Given the description of an element on the screen output the (x, y) to click on. 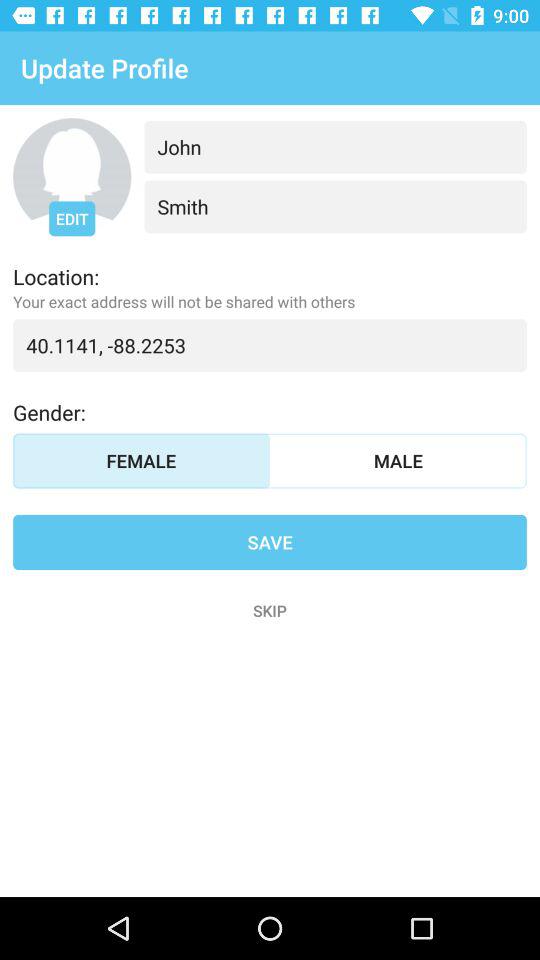
edit profile photo (72, 177)
